Given the description of an element on the screen output the (x, y) to click on. 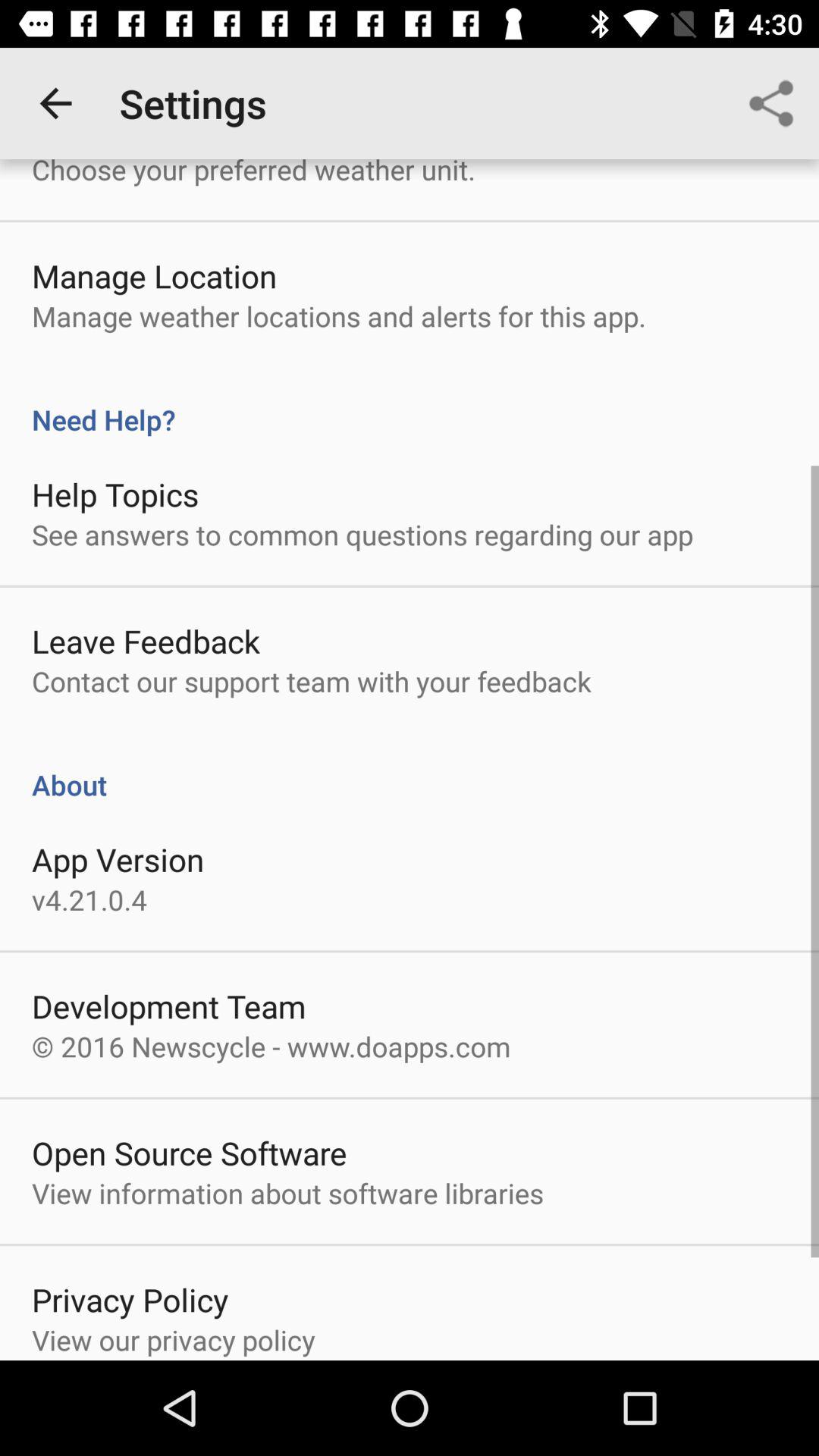
click the item above 2016 newscycle www icon (168, 1005)
